Given the description of an element on the screen output the (x, y) to click on. 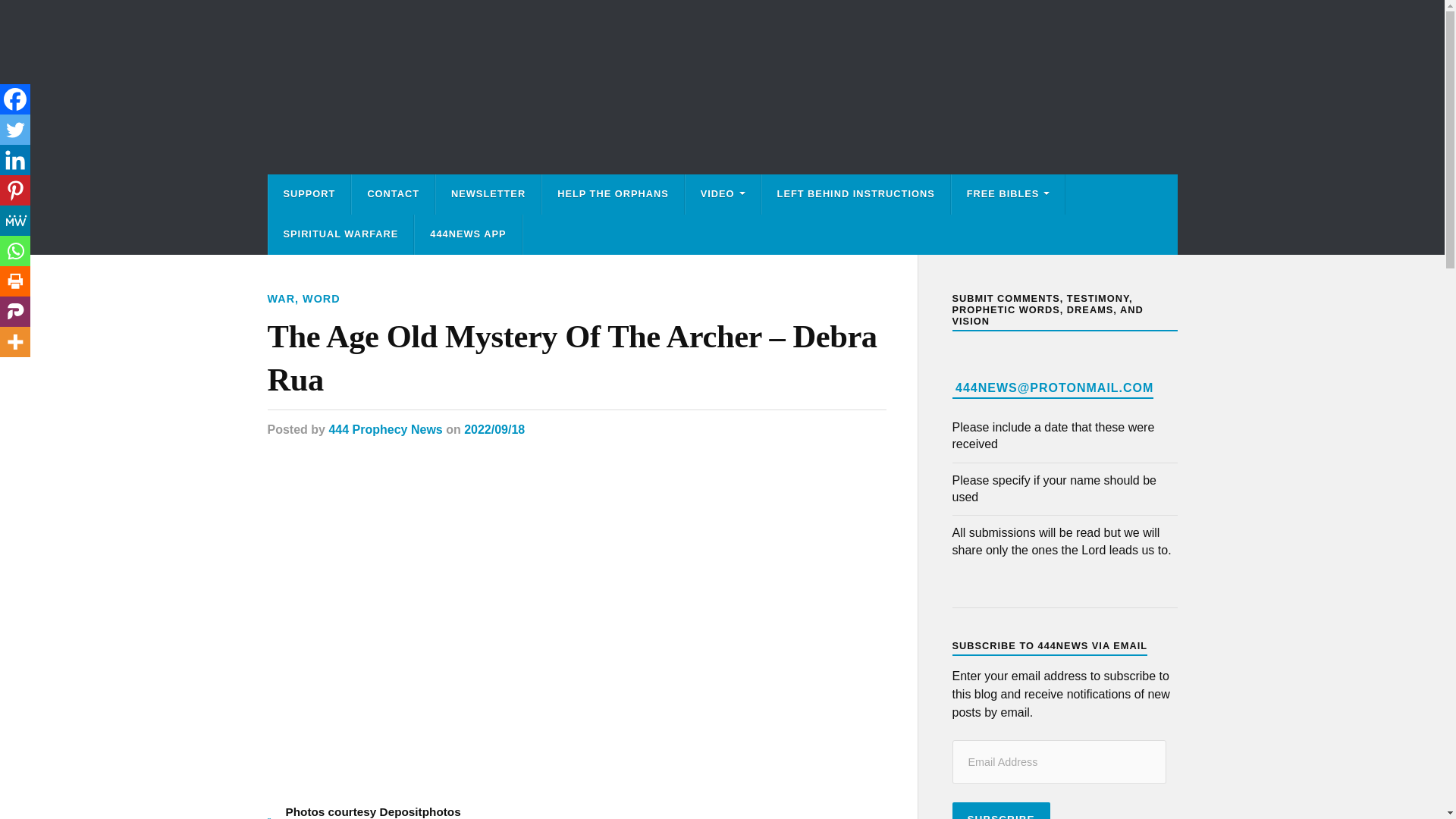
NEWSLETTER (487, 194)
Pinterest (15, 190)
CONTACT (392, 194)
Twitter (15, 129)
MeWe (15, 220)
VIDEO (722, 194)
Facebook (15, 99)
FREE BIBLES (1008, 194)
444 Prophecy News (385, 429)
Linkedin (15, 159)
